Given the description of an element on the screen output the (x, y) to click on. 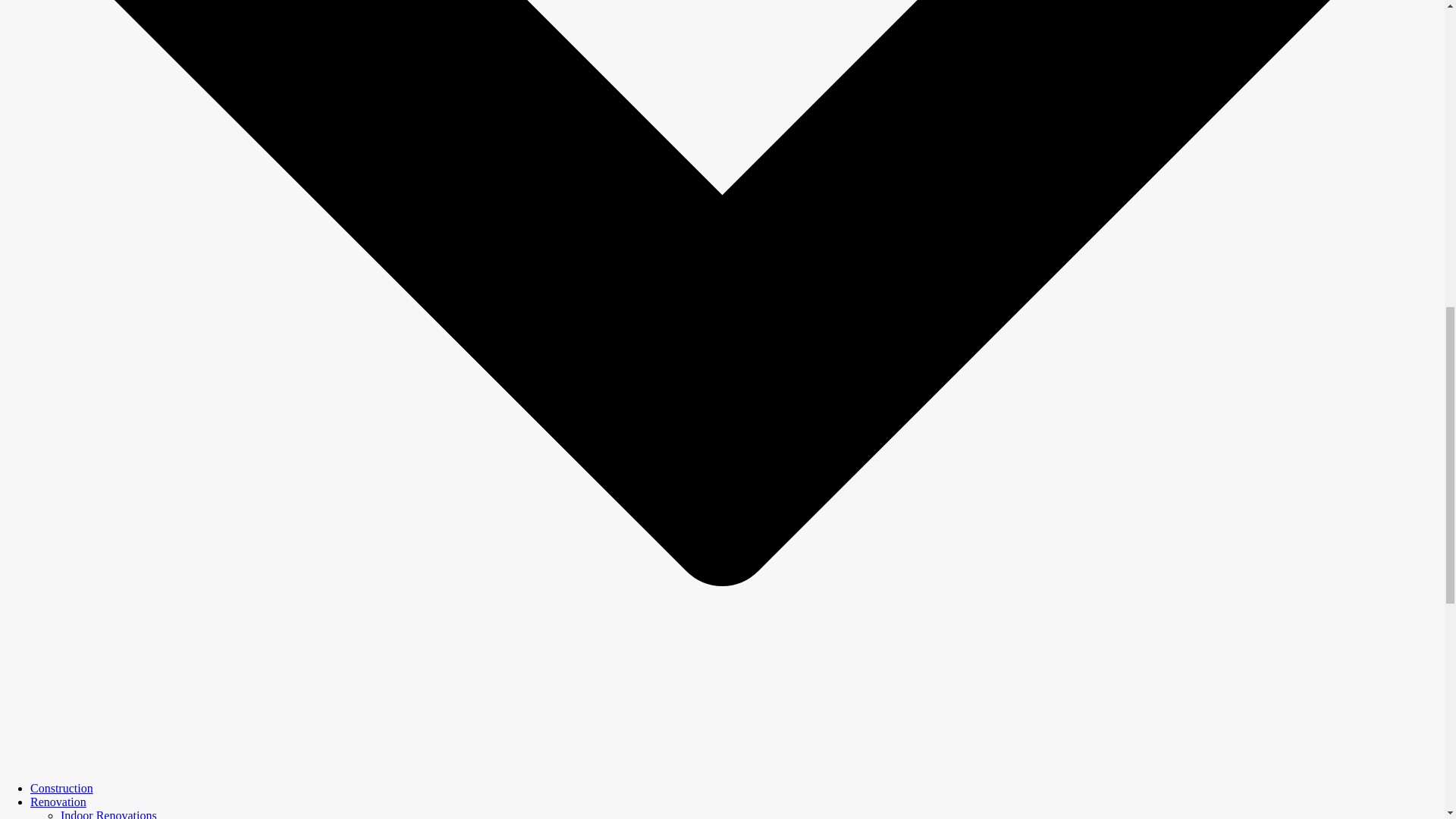
Renovation (57, 801)
Indoor Renovations (109, 814)
Indoor Renovations (109, 814)
Construction (61, 788)
Construction (61, 788)
Renovation (57, 801)
